Given the description of an element on the screen output the (x, y) to click on. 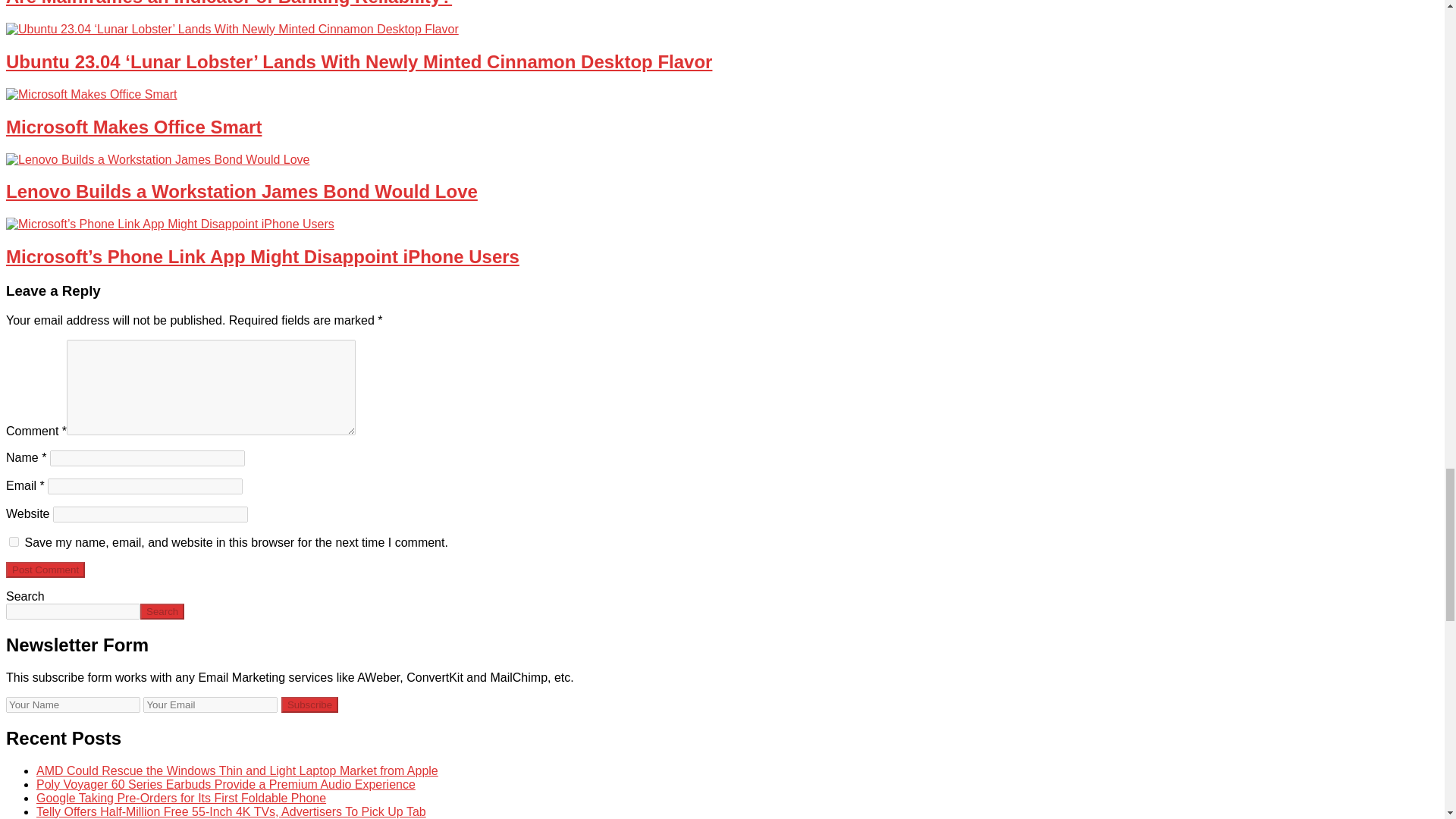
Post Comment (44, 569)
Subscribe (309, 704)
Microsoft Makes Office Smart (91, 94)
yes (13, 542)
Lenovo Builds a Workstation James Bond Would Love (157, 160)
